Given the description of an element on the screen output the (x, y) to click on. 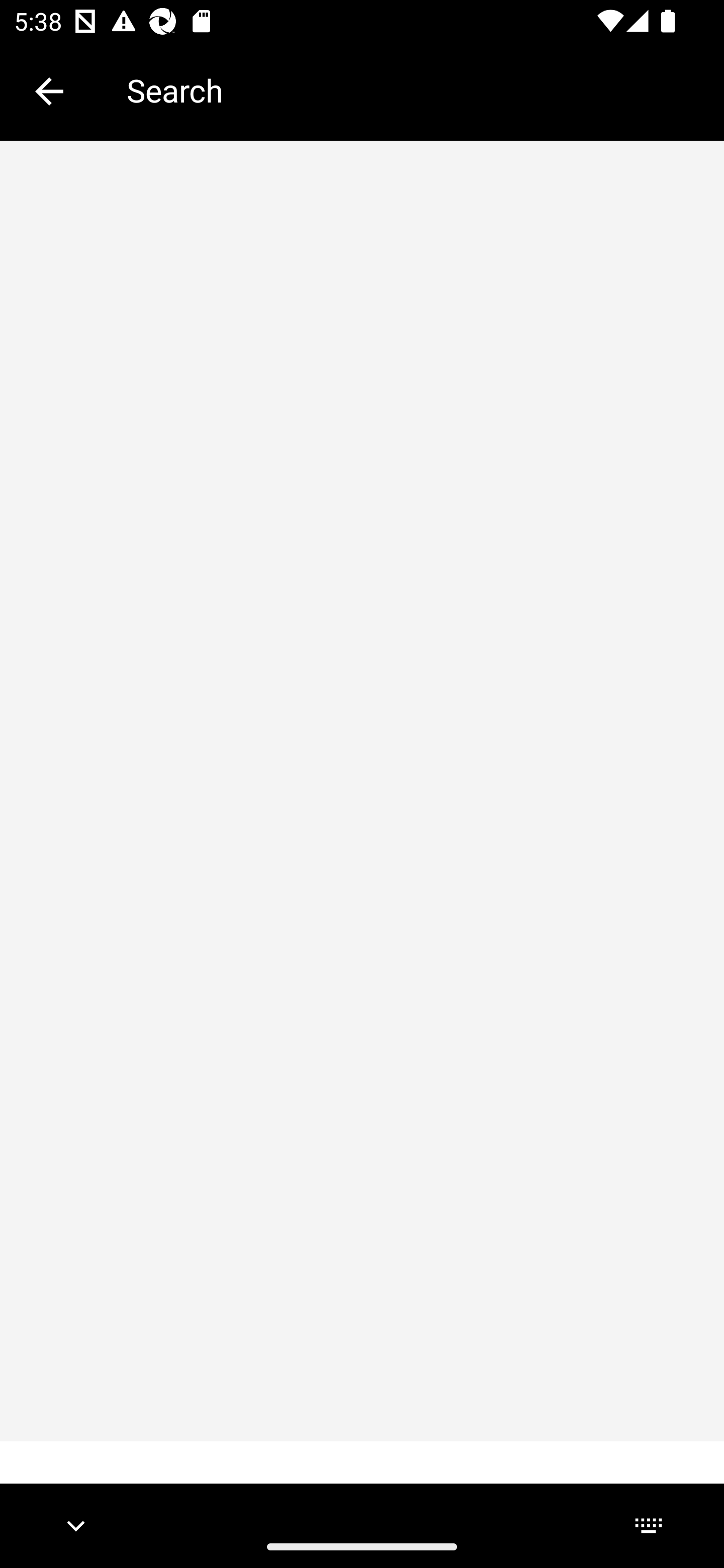
Collapse (49, 91)
Search (411, 90)
